Given the description of an element on the screen output the (x, y) to click on. 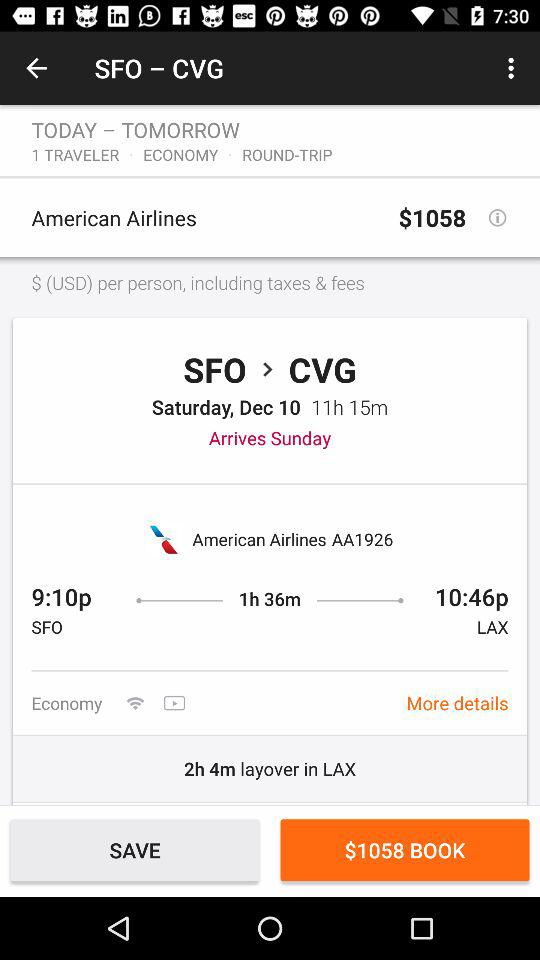
click save in the bottom (134, 849)
select menu icon (514, 68)
click on bottom right option (404, 849)
